Given the description of an element on the screen output the (x, y) to click on. 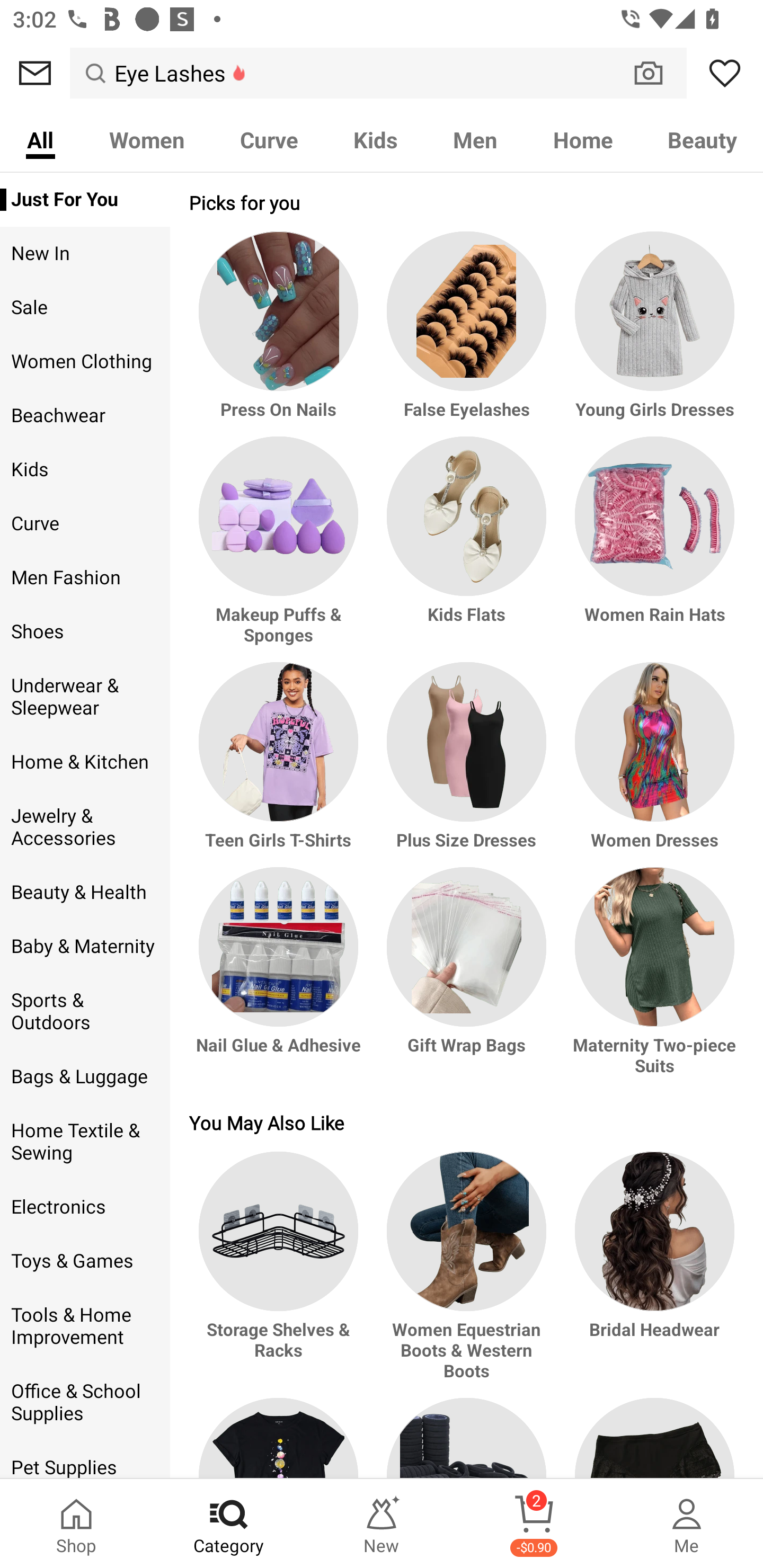
Wishlist (724, 72)
VISUAL SEARCH (657, 72)
All (40, 139)
Women (146, 139)
Curve (268, 139)
Kids (375, 139)
Men (474, 139)
Home (582, 139)
Beauty (701, 139)
Just For You (85, 199)
Picks for you (466, 202)
New In (85, 253)
Press On Nails (281, 333)
False Eyelashes (466, 333)
Young Girls Dresses (651, 333)
Sale (85, 307)
Women Clothing (85, 361)
Beachwear (85, 415)
Makeup Puffs & Sponges (281, 548)
Kids Flats (466, 548)
Women Rain Hats (651, 548)
Kids (85, 469)
Curve (85, 523)
Men Fashion (85, 577)
Shoes (85, 631)
Underwear & Sleepwear (85, 696)
Teen Girls T-Shirts (281, 764)
Plus Size Dresses (466, 764)
Women Dresses (651, 764)
Home & Kitchen (85, 761)
Jewelry & Accessories (85, 826)
Beauty & Health (85, 891)
Nail Glue & Adhesive (281, 979)
Gift Wrap Bags (466, 979)
Maternity Two-piece Suits (651, 979)
Baby & Maternity (85, 945)
Sports & Outdoors (85, 1011)
Bags & Luggage (85, 1076)
You May Also Like (466, 1121)
Home Textile & Sewing (85, 1141)
Storage Shelves & Racks (281, 1274)
Women Equestrian Boots & Western Boots (466, 1274)
Bridal Headwear (651, 1274)
Electronics (85, 1207)
Toys & Games (85, 1261)
Tools & Home Improvement (85, 1326)
Office & School Supplies (85, 1402)
Pet Supplies (85, 1459)
Shop (76, 1523)
New (381, 1523)
Cart 2 -$0.90 (533, 1523)
Me (686, 1523)
